Given the description of an element on the screen output the (x, y) to click on. 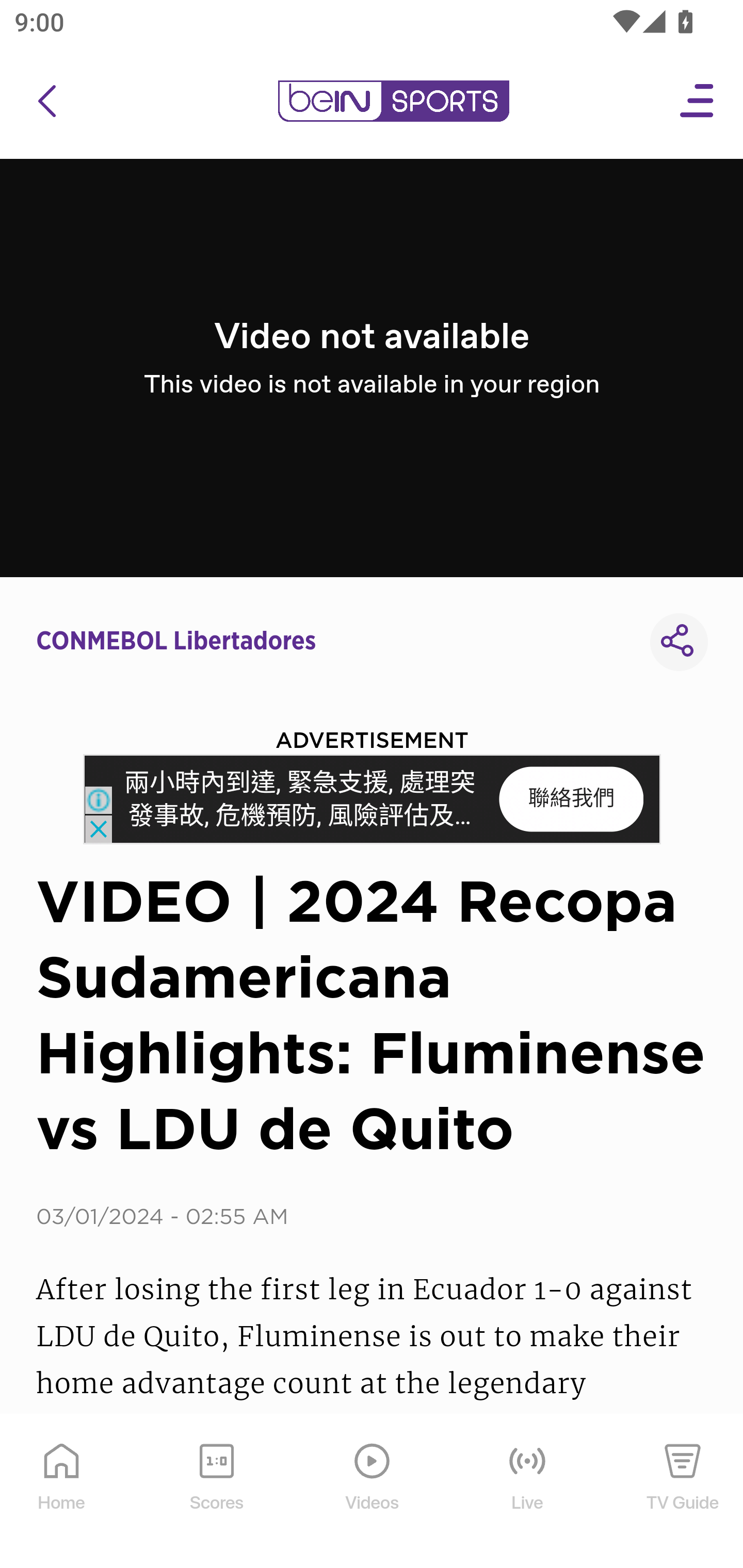
en-us?platform=mobile_android bein logo (392, 101)
icon back (46, 101)
Open Menu Icon (697, 101)
Home Home Icon Home (61, 1491)
Scores Scores Icon Scores (216, 1491)
Videos Videos Icon Videos (372, 1491)
TV Guide TV Guide Icon TV Guide (682, 1491)
